Given the description of an element on the screen output the (x, y) to click on. 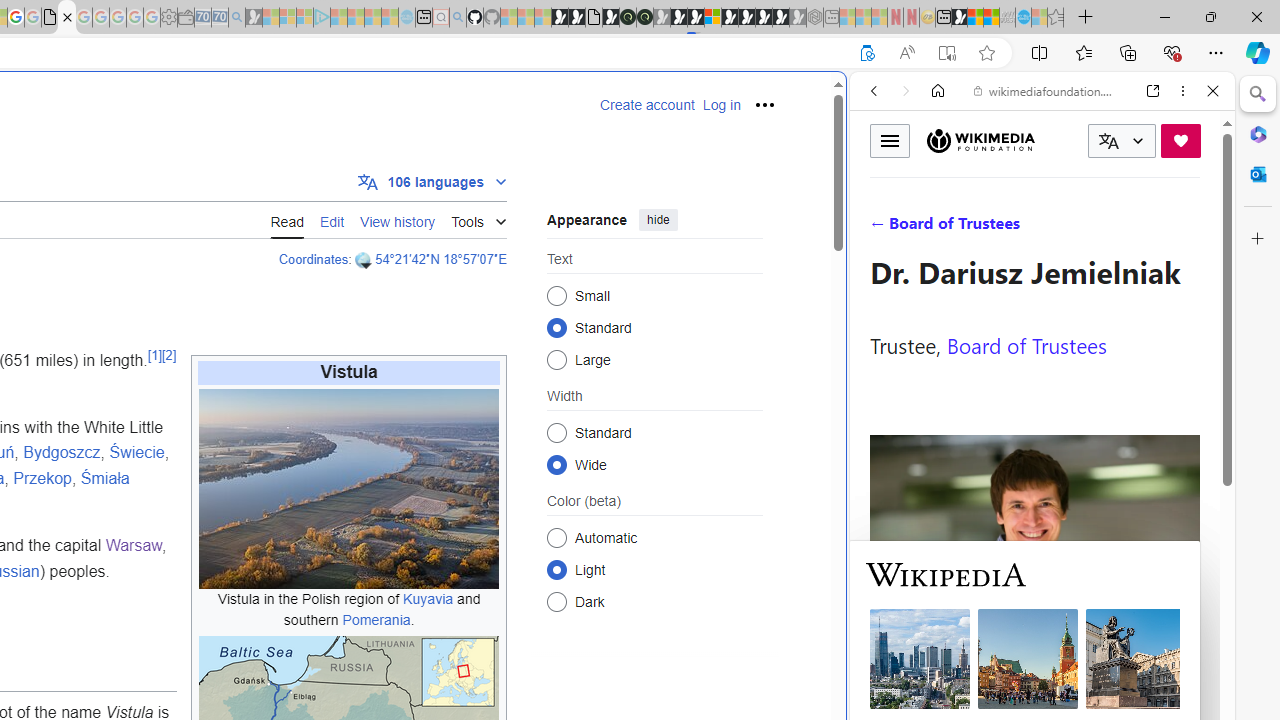
Wallet - Sleeping (185, 17)
Coordinates (313, 259)
Class: mw-list-item mw-list-item-js (654, 569)
Close Customize pane (1258, 239)
Enter Immersive Reader (F9) (946, 53)
Large (556, 359)
Search Filter, VIDEOS (1006, 228)
IMAGES (939, 228)
Log in (721, 105)
New tab - Sleeping (831, 17)
